Given the description of an element on the screen output the (x, y) to click on. 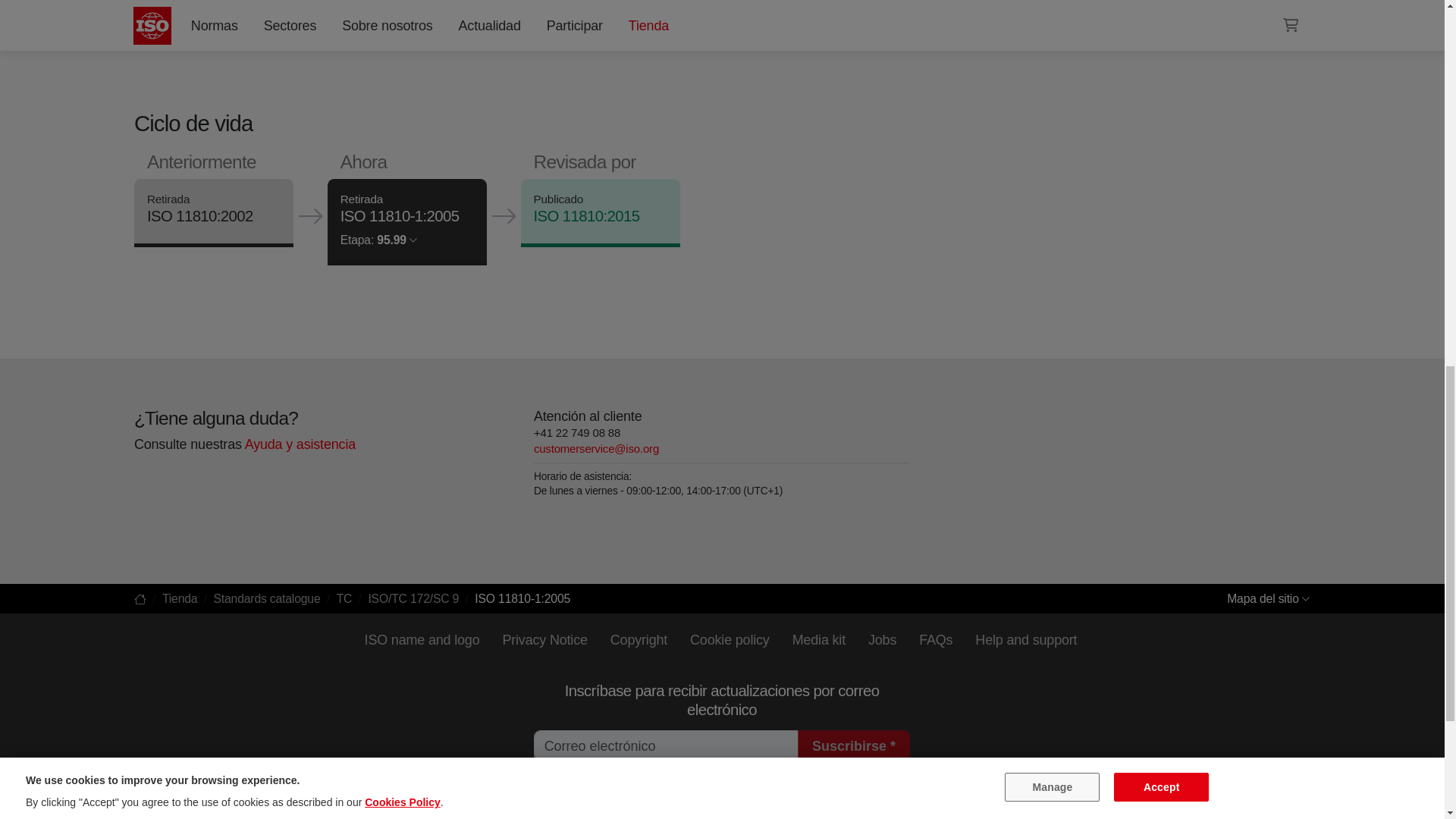
ISO 11810:2002 (199, 216)
